Given the description of an element on the screen output the (x, y) to click on. 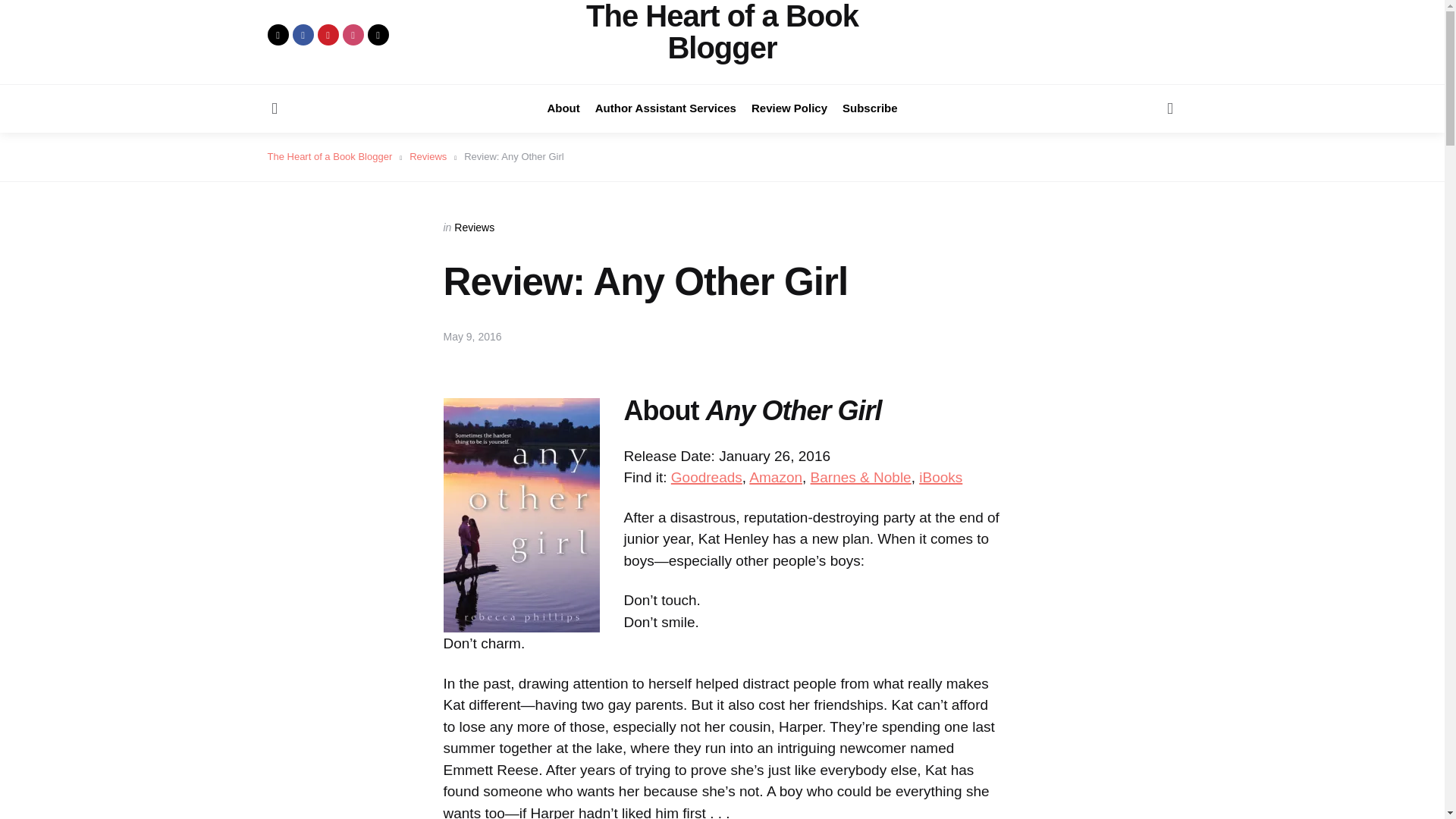
Reviews (474, 227)
About (563, 108)
Reviews (427, 155)
The Heart of a Book Blogger (328, 155)
Subscribe (870, 108)
Go to The Heart of a Book Blogger. (328, 155)
The Heart of a Book Blogger (721, 31)
Amazon (775, 477)
Author Assistant Services (665, 108)
Goodreads (706, 477)
